Given the description of an element on the screen output the (x, y) to click on. 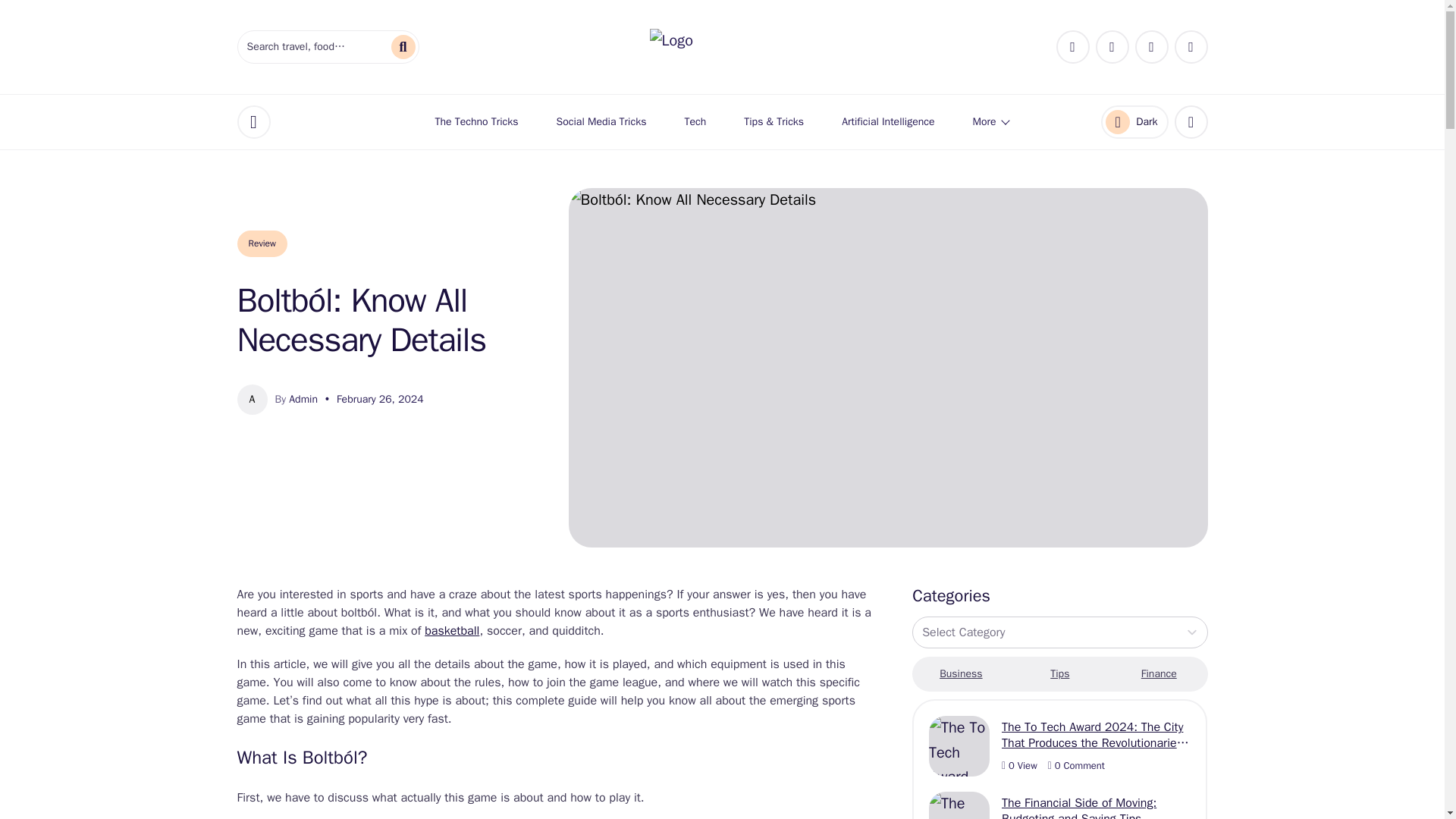
By Admin (296, 399)
Business (960, 673)
basketball (452, 630)
facebook (1072, 46)
Artificial Intelligence (888, 121)
Social Media Tricks (601, 121)
View (1018, 766)
Tech (694, 121)
The Techno Tricks (475, 121)
More (990, 121)
Finance (1133, 121)
Open menu (1158, 673)
